Given the description of an element on the screen output the (x, y) to click on. 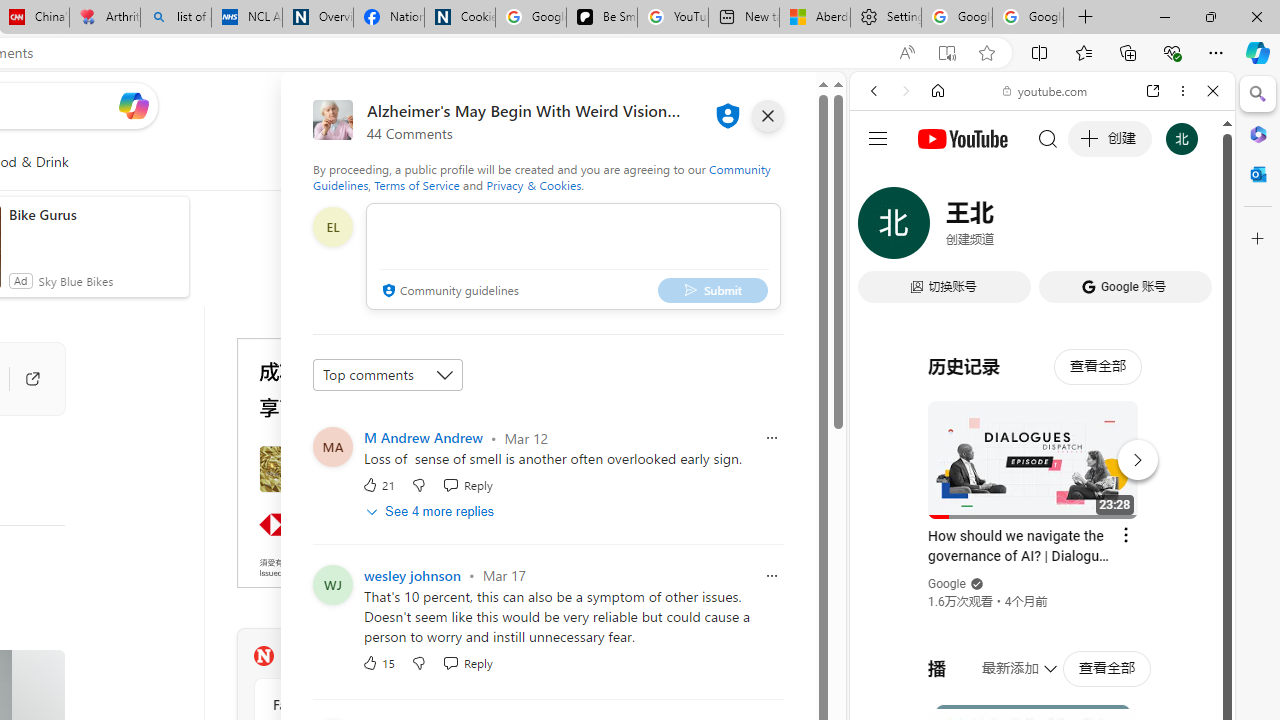
Close Customize pane (1258, 239)
Enter Immersive Reader (F9) (946, 53)
Newsweek (263, 655)
wesley johnson (411, 575)
15 Like (378, 662)
youtube.com (1046, 90)
Search (1258, 94)
#you (1042, 445)
Music (1042, 543)
Collections (1128, 52)
See 4 more replies (431, 511)
Search the web (1051, 137)
Close (1213, 91)
Open Copilot (132, 105)
